Given the description of an element on the screen output the (x, y) to click on. 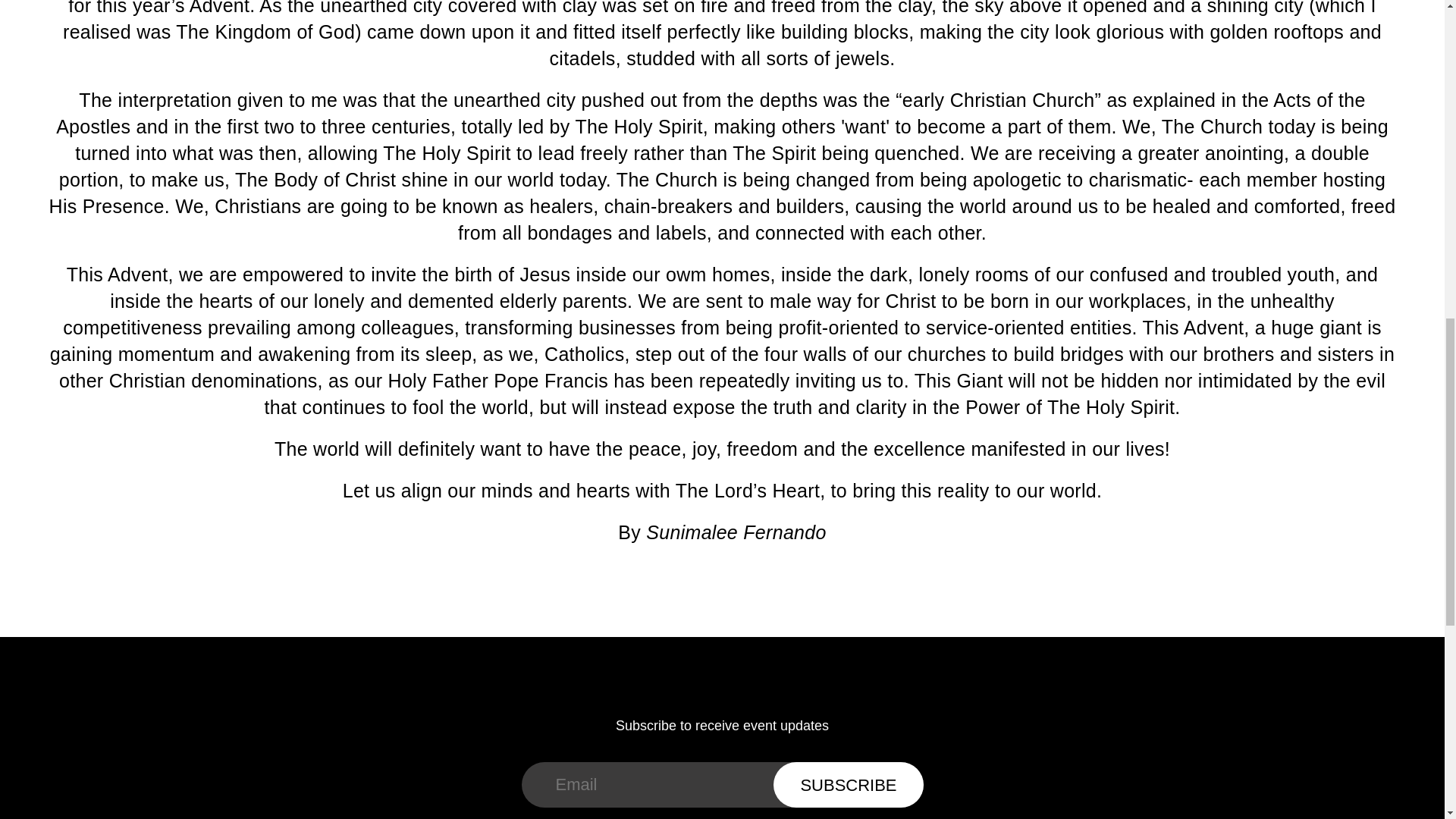
Subscribe (848, 784)
Subscribe (848, 784)
